Given the description of an element on the screen output the (x, y) to click on. 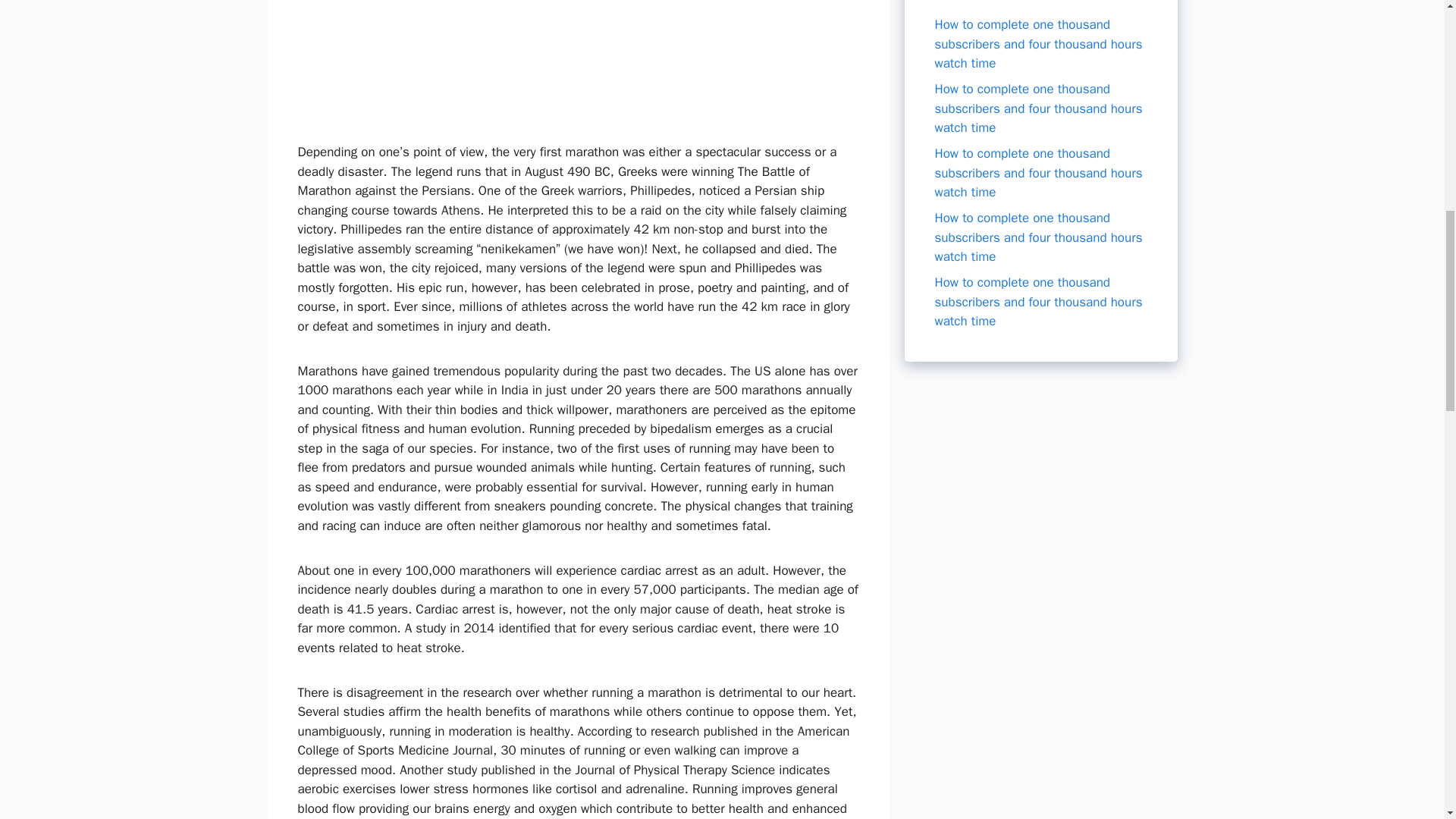
Advertisement (577, 58)
